Given the description of an element on the screen output the (x, y) to click on. 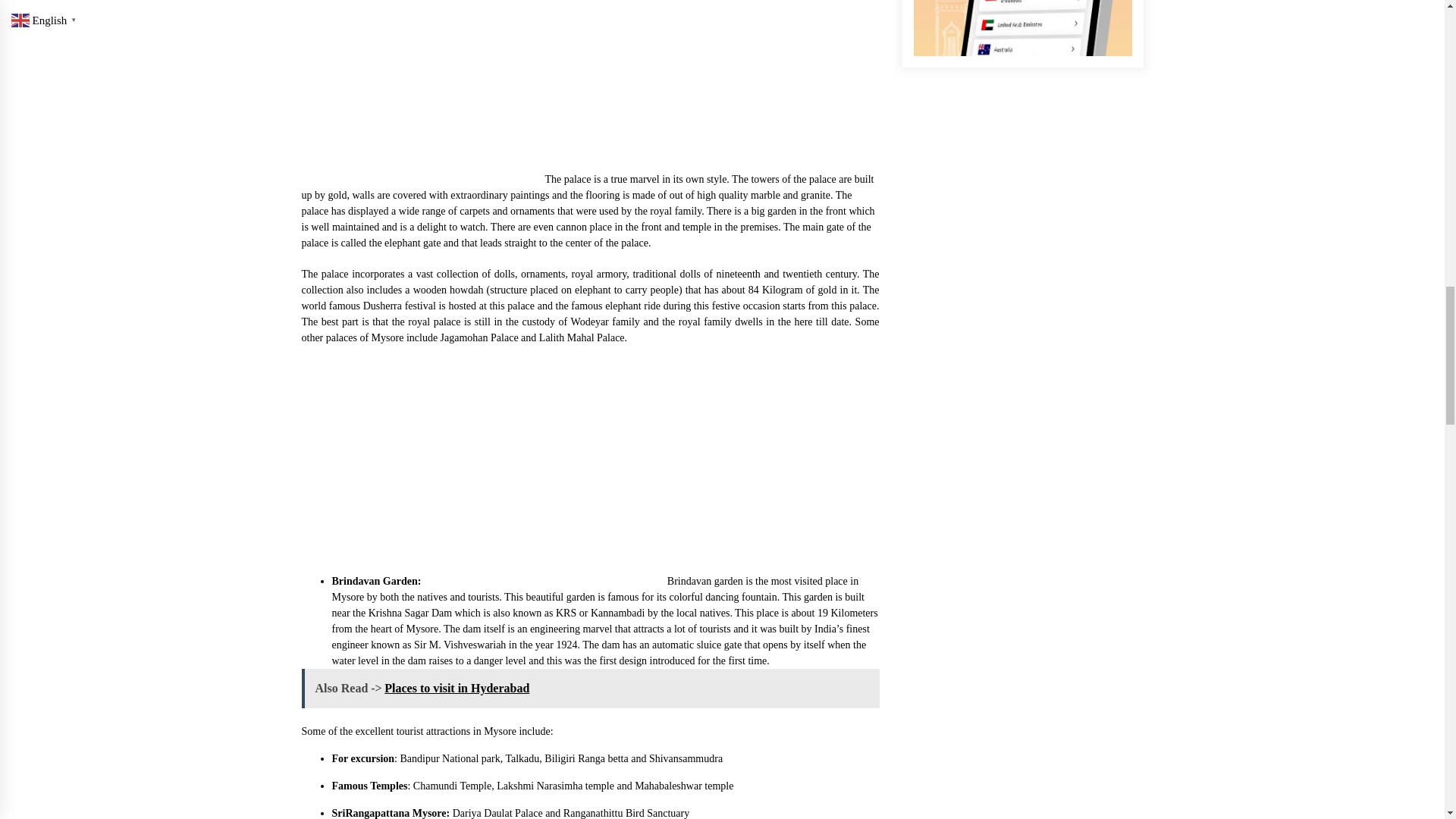
Mysore Palace inside (415, 91)
